Given the description of an element on the screen output the (x, y) to click on. 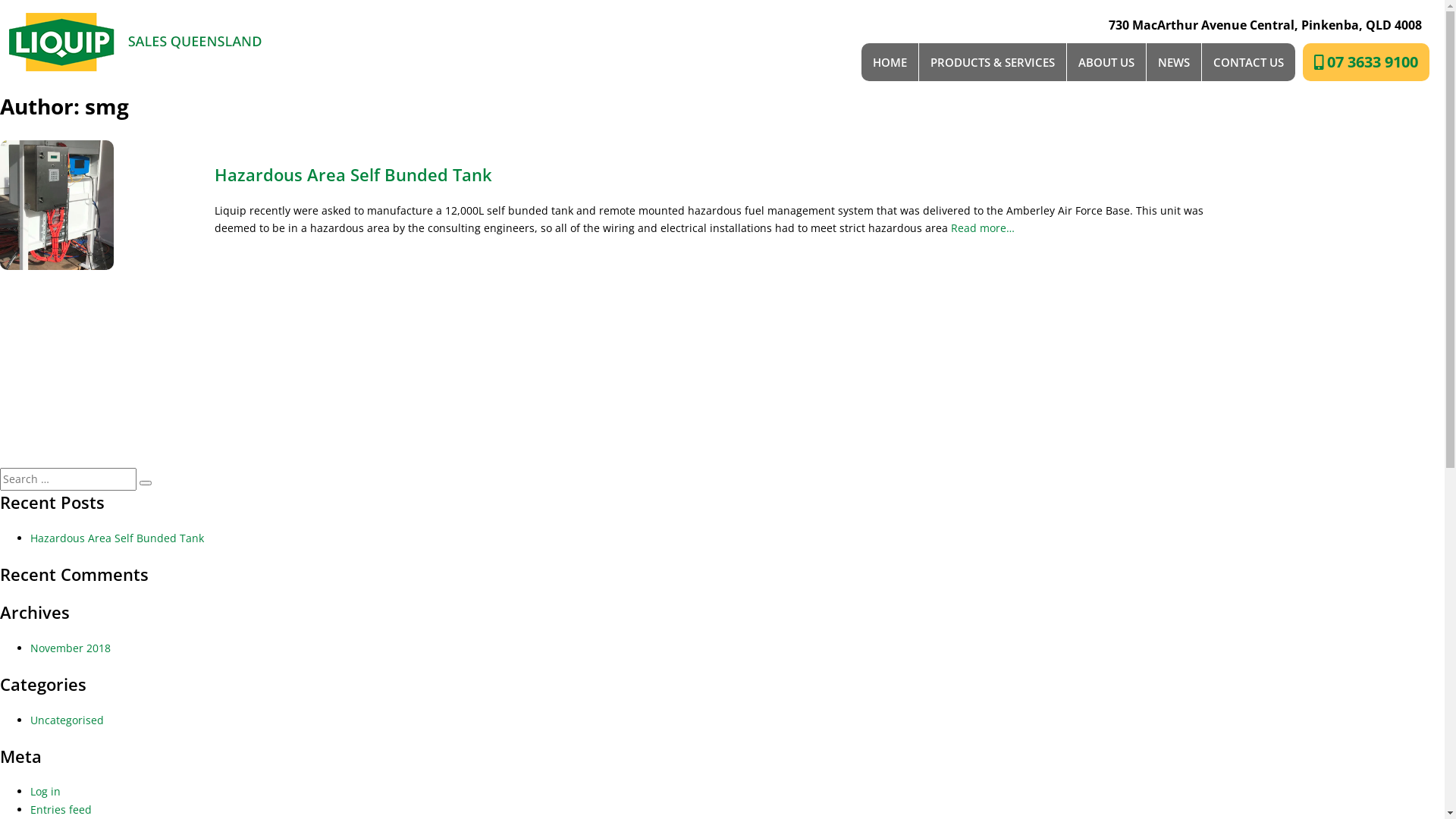
November 2018 Element type: text (70, 647)
Entries feed Element type: text (60, 809)
PRODUCTS & SERVICES Element type: text (992, 62)
07 3633 9100 Element type: text (1366, 62)
CONTACT US Element type: text (1247, 62)
Hazardous Area Self Bunded Tank Element type: text (352, 174)
Uncategorised Element type: text (66, 719)
HOME Element type: text (890, 62)
ABOUT US Element type: text (1105, 62)
Log in Element type: text (45, 791)
Hazardous Area Self Bunded Tank Element type: text (116, 537)
Search Element type: text (145, 482)
NEWS Element type: text (1173, 62)
